Given the description of an element on the screen output the (x, y) to click on. 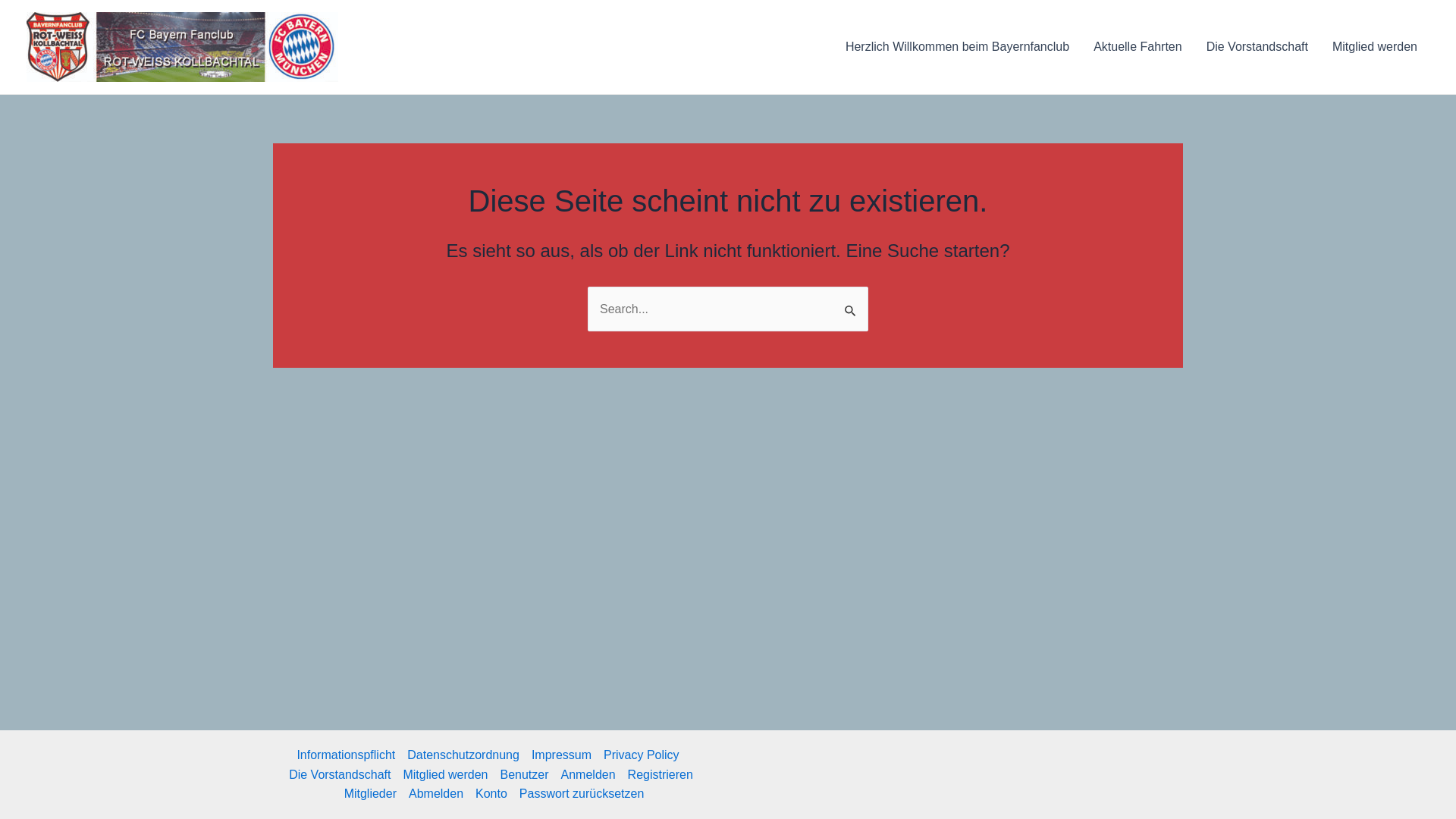
Mitglied werden Element type: text (1374, 46)
Die Vorstandschaft Element type: text (1257, 46)
Suche Element type: text (851, 302)
Benutzer Element type: text (524, 774)
Mitglieder Element type: text (370, 793)
Herzlich Willkommen beim Bayernfanclub Element type: text (957, 46)
Anmelden Element type: text (588, 774)
Impressum Element type: text (561, 755)
Informationspflicht Element type: text (348, 755)
Registrieren Element type: text (660, 774)
Mitglied werden Element type: text (444, 774)
Die Vorstandschaft Element type: text (339, 774)
Abmelden Element type: text (435, 793)
Konto Element type: text (491, 793)
Privacy Policy Element type: text (641, 755)
Datenschutzordnung Element type: text (463, 755)
Aktuelle Fahrten Element type: text (1137, 46)
